Given the description of an element on the screen output the (x, y) to click on. 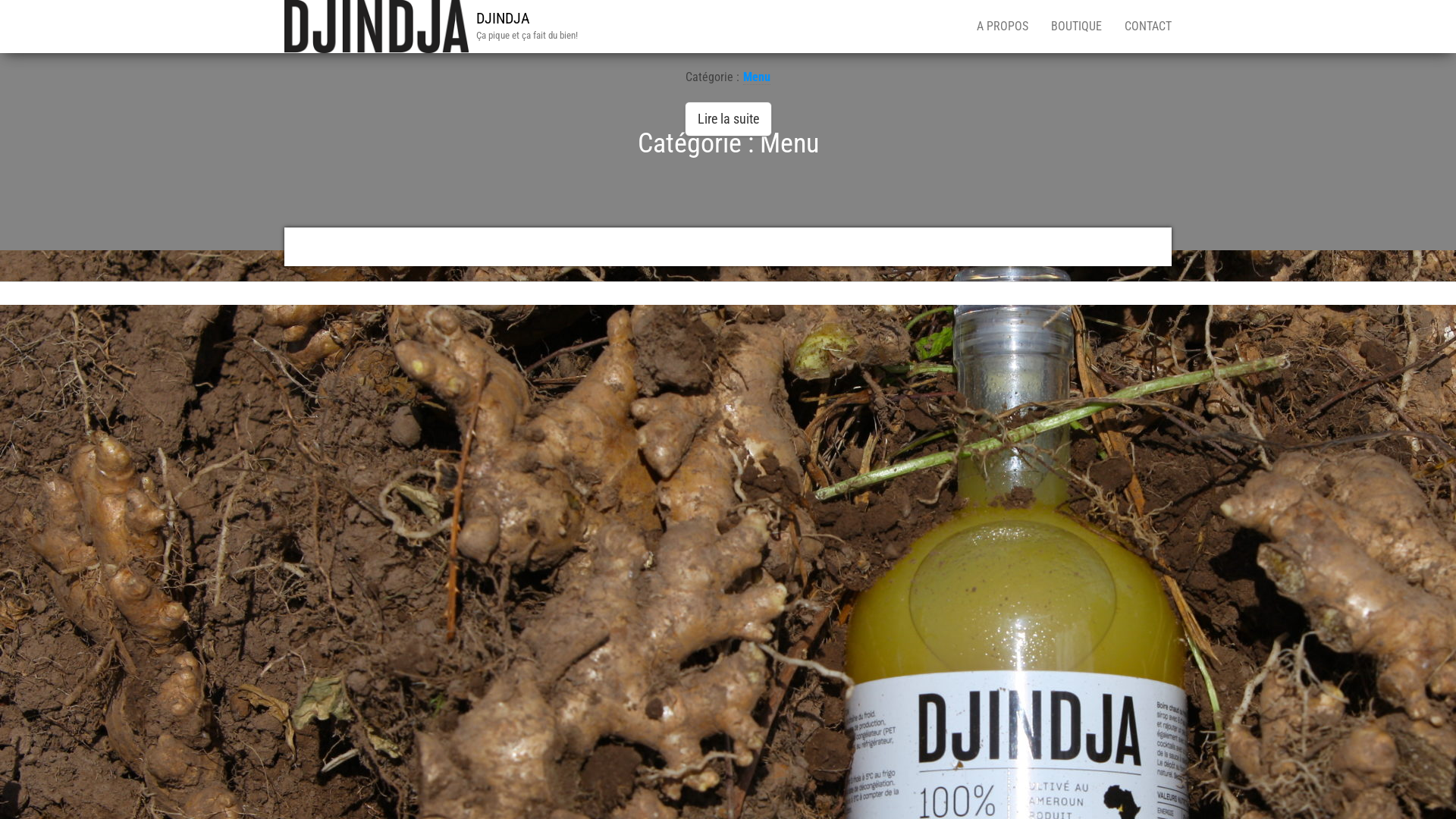
CONTACT Element type: text (1148, 26)
Menu Element type: text (756, 76)
Lire la suite Element type: text (727, 118)
BOUTIQUE Element type: text (1076, 26)
DJINDJA Element type: text (503, 18)
A PROPOS Element type: text (1002, 26)
